Given the description of an element on the screen output the (x, y) to click on. 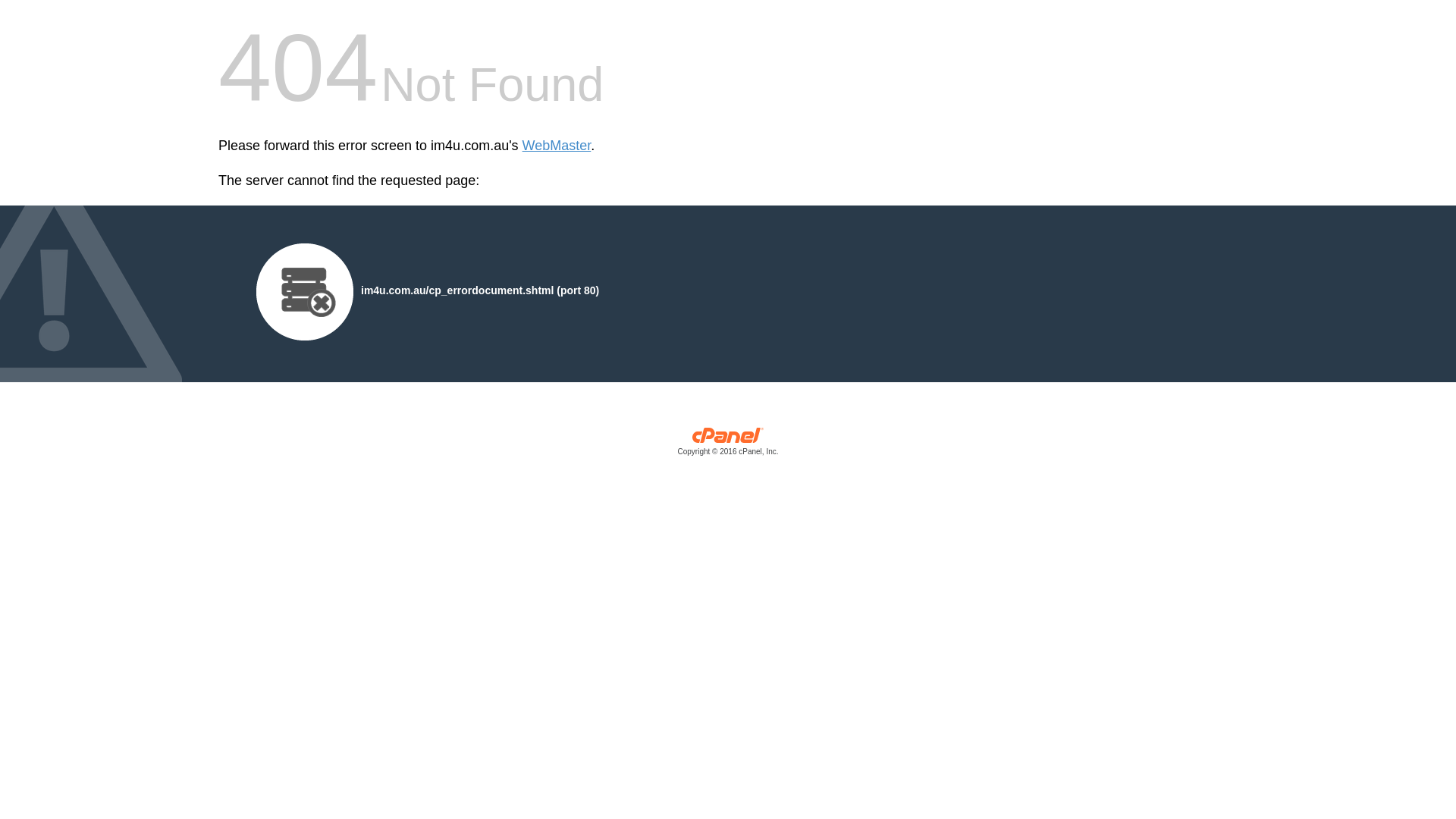
WebMaster Element type: text (556, 145)
